Given the description of an element on the screen output the (x, y) to click on. 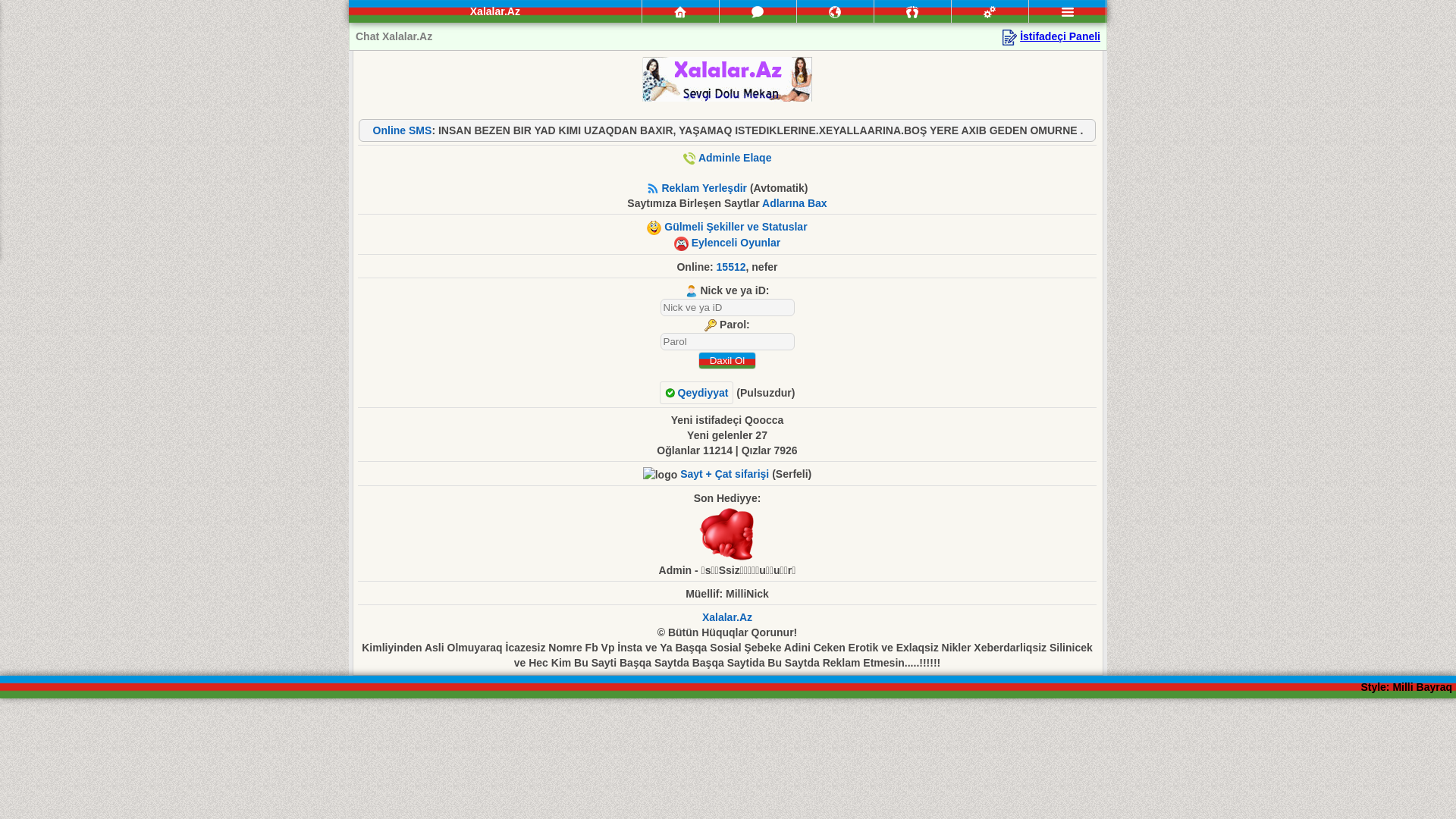
Ana Sehife Element type: hover (680, 12)
Style: Milli Bayraq Element type: text (1406, 686)
Qonaqlar Element type: hover (912, 12)
Daxil Ol Element type: text (726, 360)
Qeydiyyat Element type: text (696, 392)
Eylenceli Oyunlar Element type: text (736, 242)
Qonaqlar Element type: hover (912, 11)
nick Element type: hover (726, 307)
15512 Element type: text (731, 266)
Ana Sehife Element type: hover (680, 11)
Adminle Elaqe Element type: text (734, 157)
Mesajlar Element type: hover (757, 11)
Xalalar.Az Element type: text (727, 617)
Parol Element type: hover (726, 341)
Online SMS Element type: text (402, 130)
Mektublar Element type: hover (834, 12)
Mesajlar Element type: hover (757, 12)
Mektublar Element type: hover (835, 11)
